Given the description of an element on the screen output the (x, y) to click on. 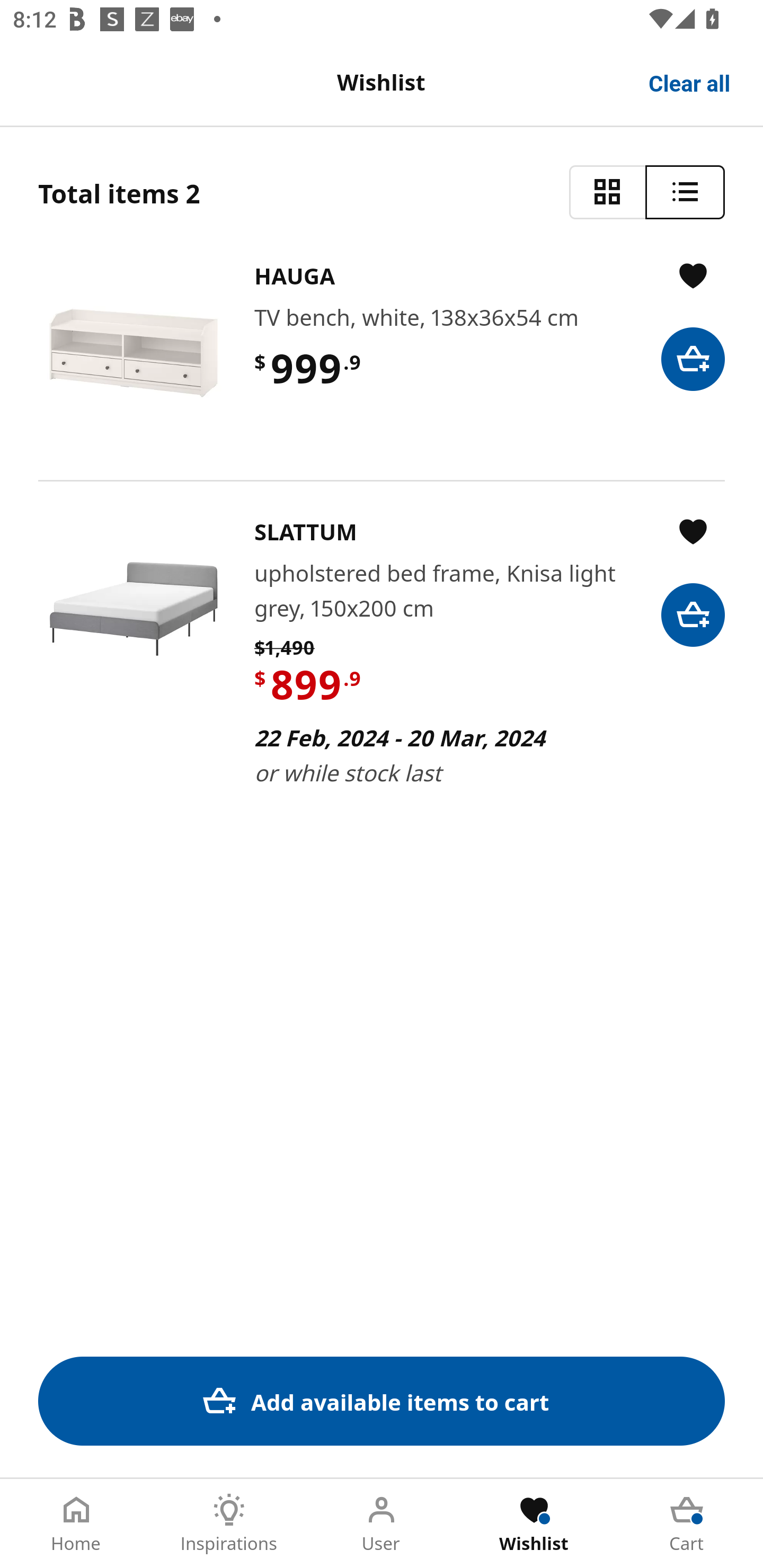
Clear all (689, 81)
​H​A​U​G​A​
TV bench, white, 138x36x54 cm
$
999
.9 (381, 352)
Add available items to cart (381, 1400)
Home
Tab 1 of 5 (76, 1522)
Inspirations
Tab 2 of 5 (228, 1522)
User
Tab 3 of 5 (381, 1522)
Wishlist
Tab 4 of 5 (533, 1522)
Cart
Tab 5 of 5 (686, 1522)
